Given the description of an element on the screen output the (x, y) to click on. 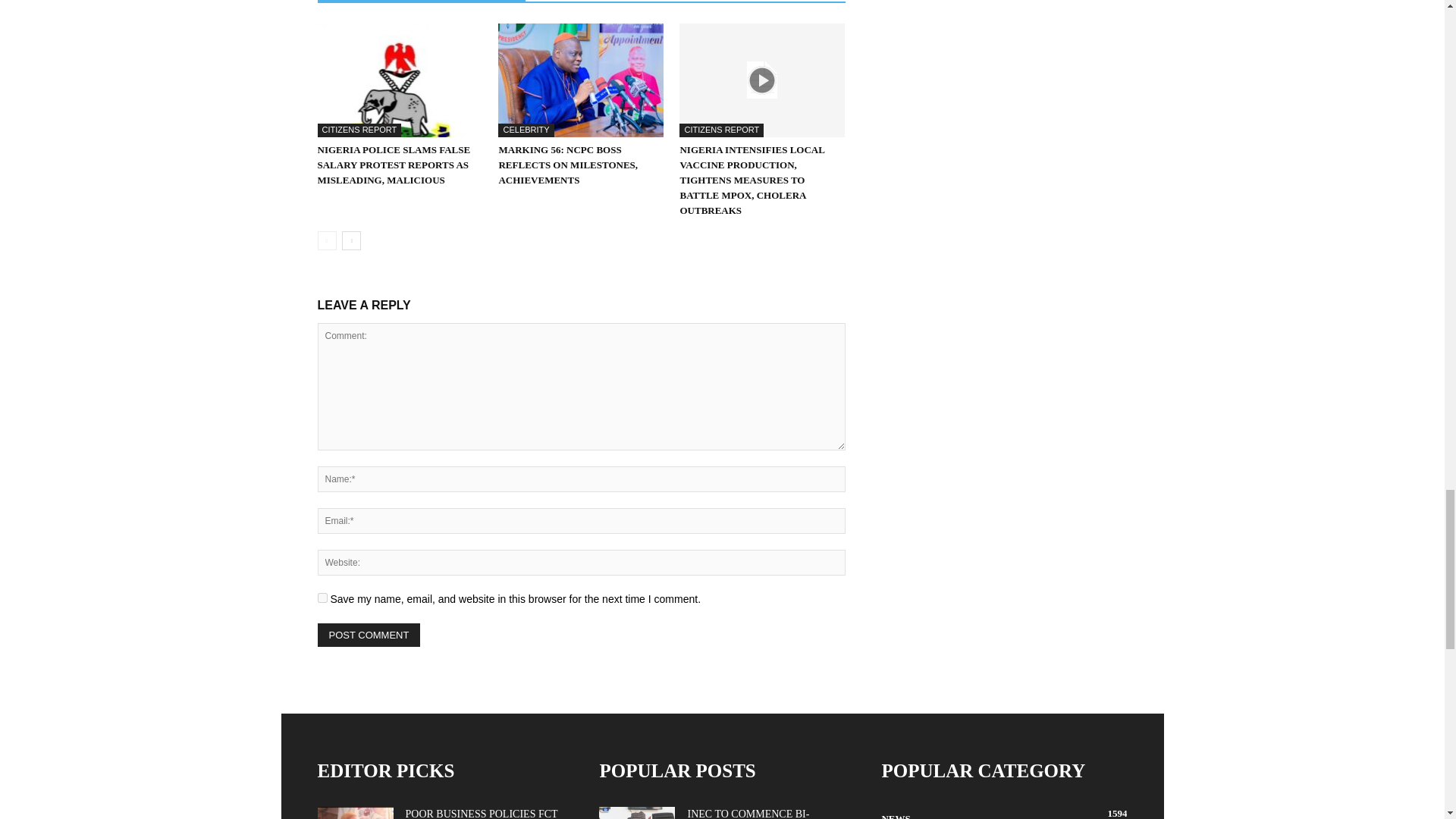
MARKING 56: NCPC BOSS REFLECTS ON MILESTONES, ACHIEVEMENTS (567, 164)
Post Comment (368, 635)
yes (321, 597)
MARKING 56: NCPC BOSS REFLECTS ON MILESTONES, ACHIEVEMENTS (580, 80)
